Given the description of an element on the screen output the (x, y) to click on. 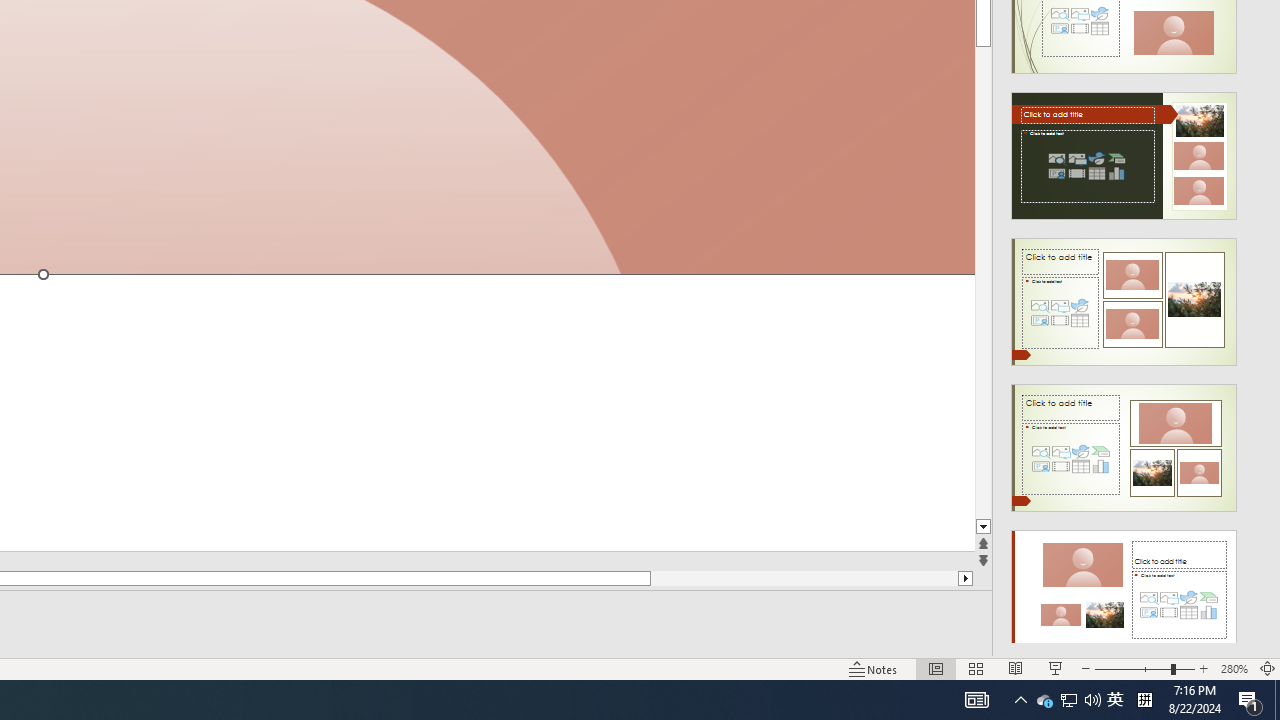
Line down (983, 527)
Class: NetUIImage (1124, 593)
Reading View (1015, 668)
Design Idea (1124, 587)
Zoom to Fit  (1267, 668)
Notes  (874, 668)
Zoom (1144, 668)
Normal (936, 668)
Zoom In (1204, 668)
Slide Sorter (975, 668)
Page down (983, 283)
Slide Show (1055, 668)
Zoom Out (1132, 668)
Zoom 280% (1234, 668)
